Given the description of an element on the screen output the (x, y) to click on. 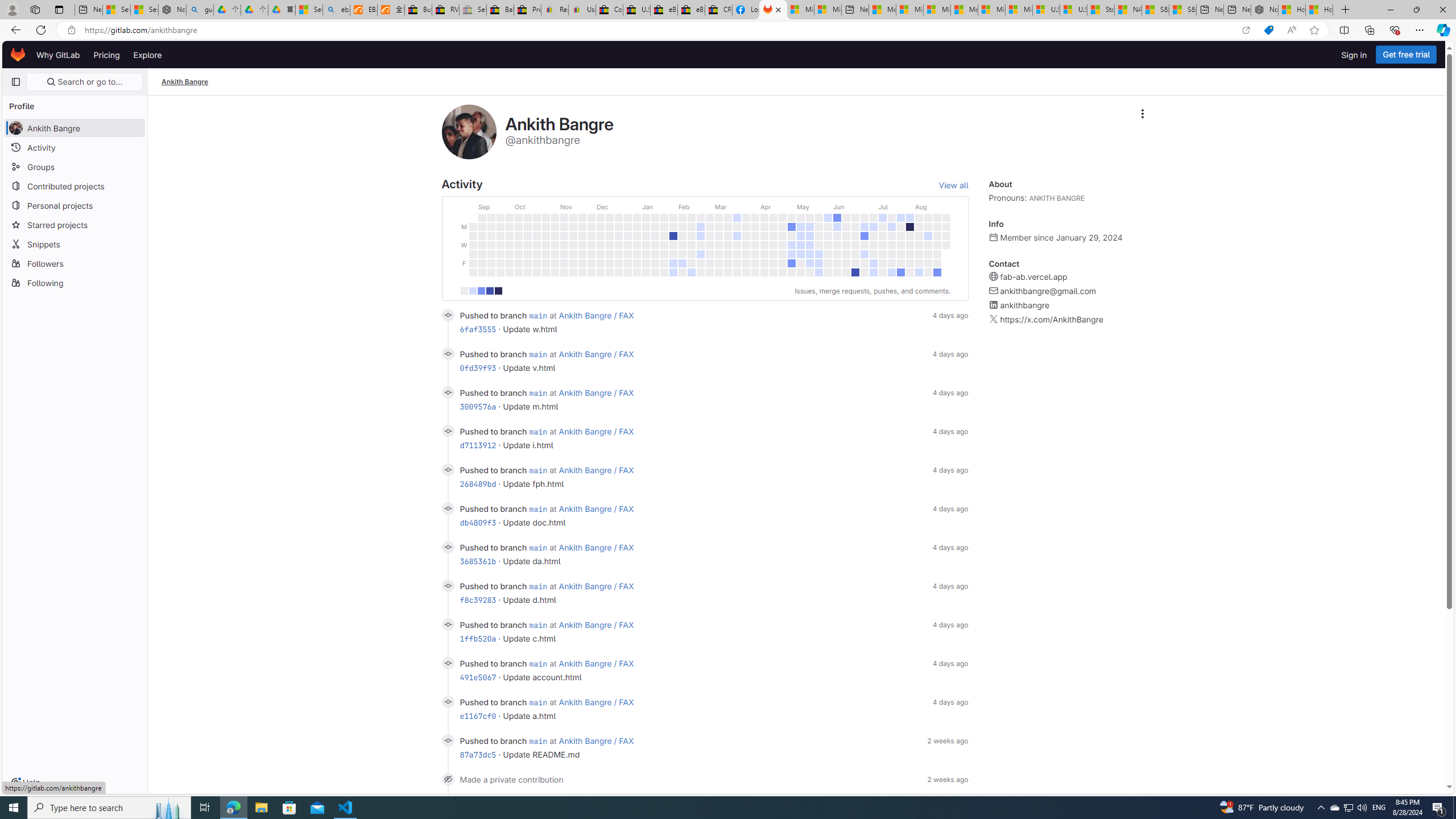
Why GitLab (58, 54)
